Given the description of an element on the screen output the (x, y) to click on. 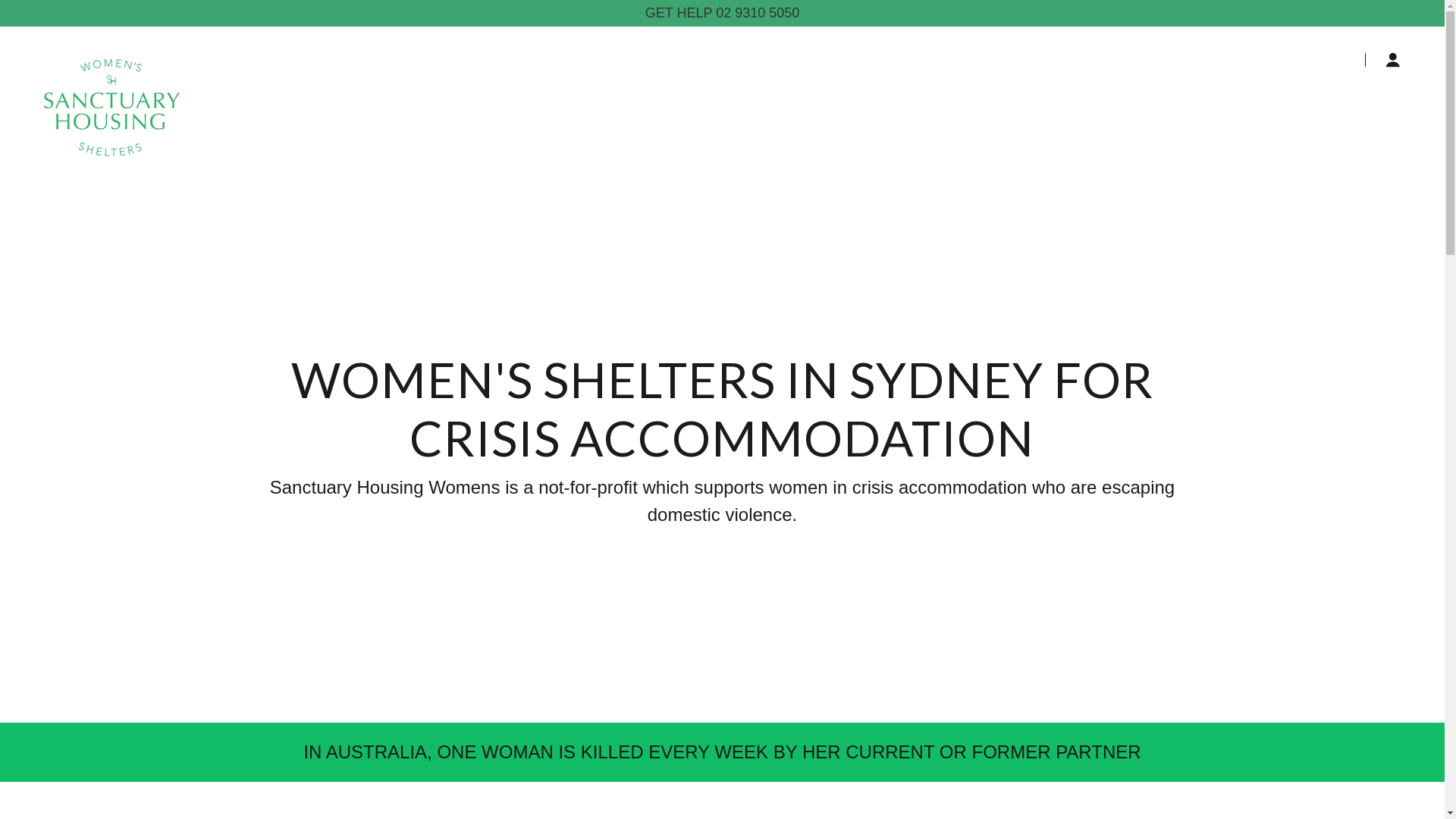
Sanctuary Housing Element type: hover (111, 56)
GET HELP 02 9310 5050 Element type: text (722, 13)
